Given the description of an element on the screen output the (x, y) to click on. 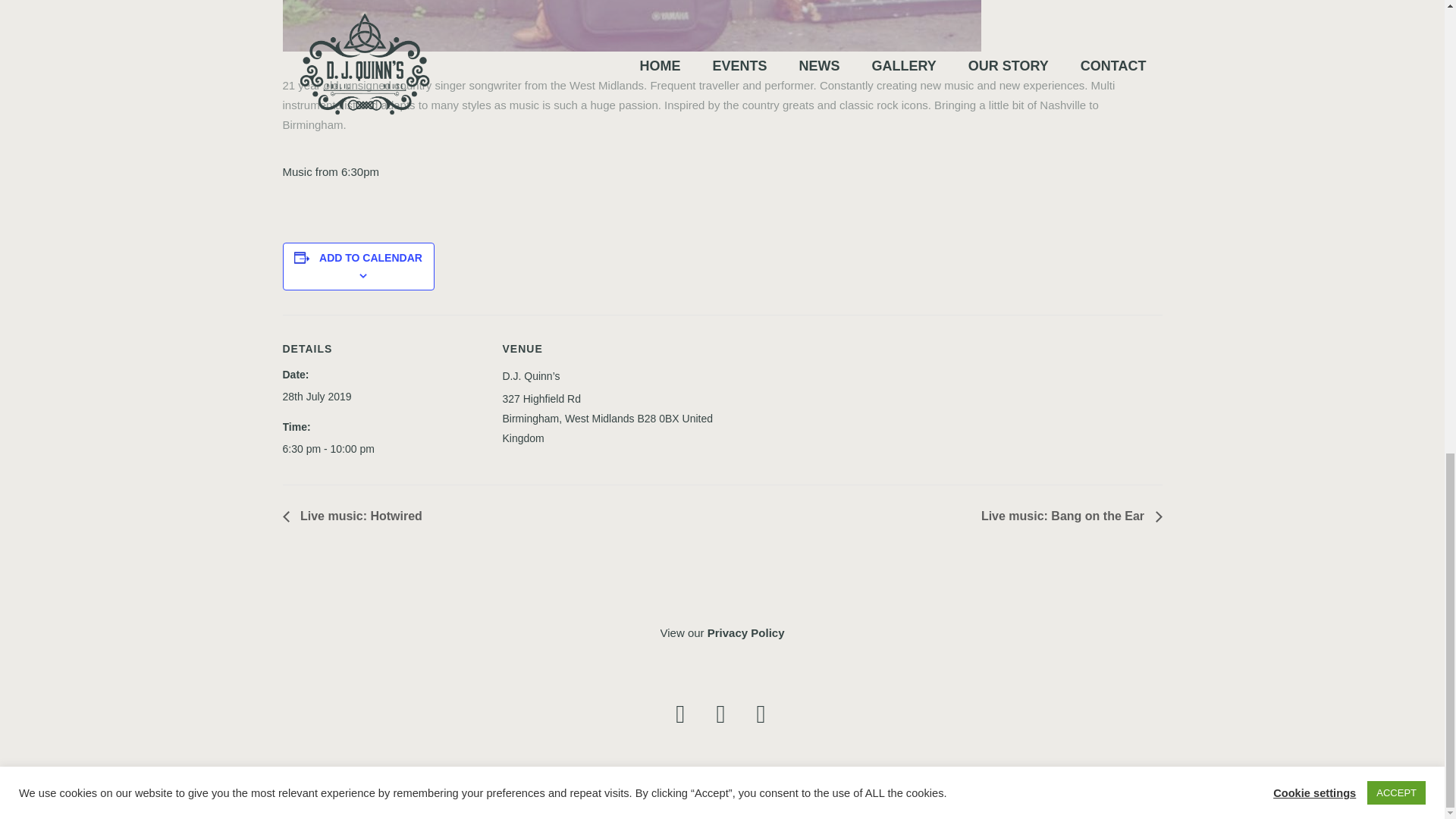
Privacy Policy (745, 632)
Facebook (680, 714)
ADD TO CALENDAR (370, 257)
Live music: Hotwired (355, 515)
Instagram (720, 714)
Twitter (760, 714)
West Midlands (599, 418)
2019-07-28 (316, 396)
Live music: Bang on the Ear (1066, 515)
2019-07-28 (392, 448)
